Given the description of an element on the screen output the (x, y) to click on. 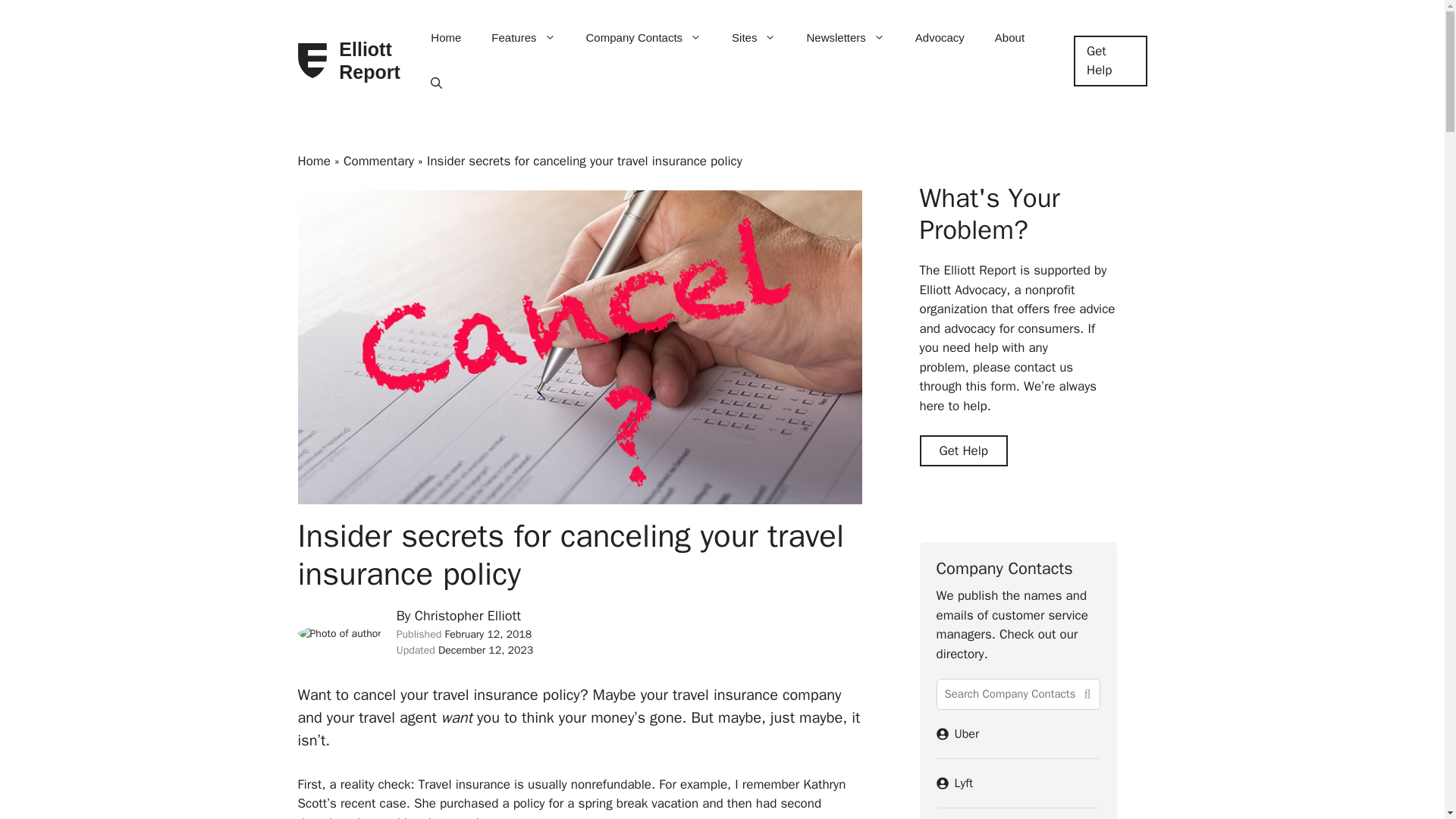
Advocacy (939, 37)
Get Help (1110, 60)
Sites (753, 37)
About (1009, 37)
Company Contacts (643, 37)
Home (445, 37)
Elliott Report (371, 60)
Features (523, 37)
Newsletters (844, 37)
